Given the description of an element on the screen output the (x, y) to click on. 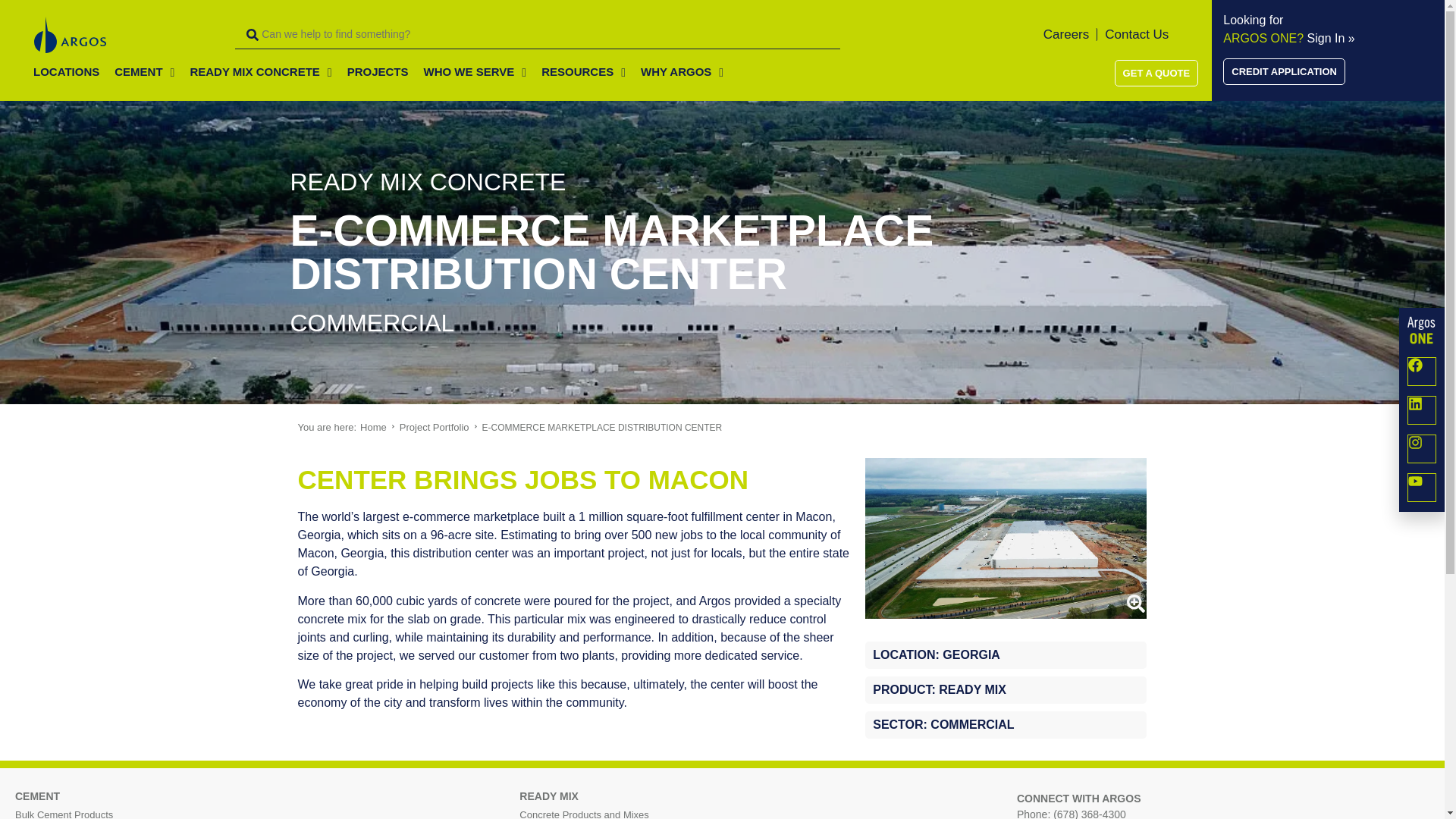
Contact Us (1136, 33)
PROJECTS (377, 73)
WHO WE SERVE (475, 73)
Careers (1070, 33)
CEMENT (144, 73)
READY MIX CONCRETE (260, 73)
LOCATIONS (66, 73)
Project Portfolio (433, 427)
Home (373, 427)
